Given the description of an element on the screen output the (x, y) to click on. 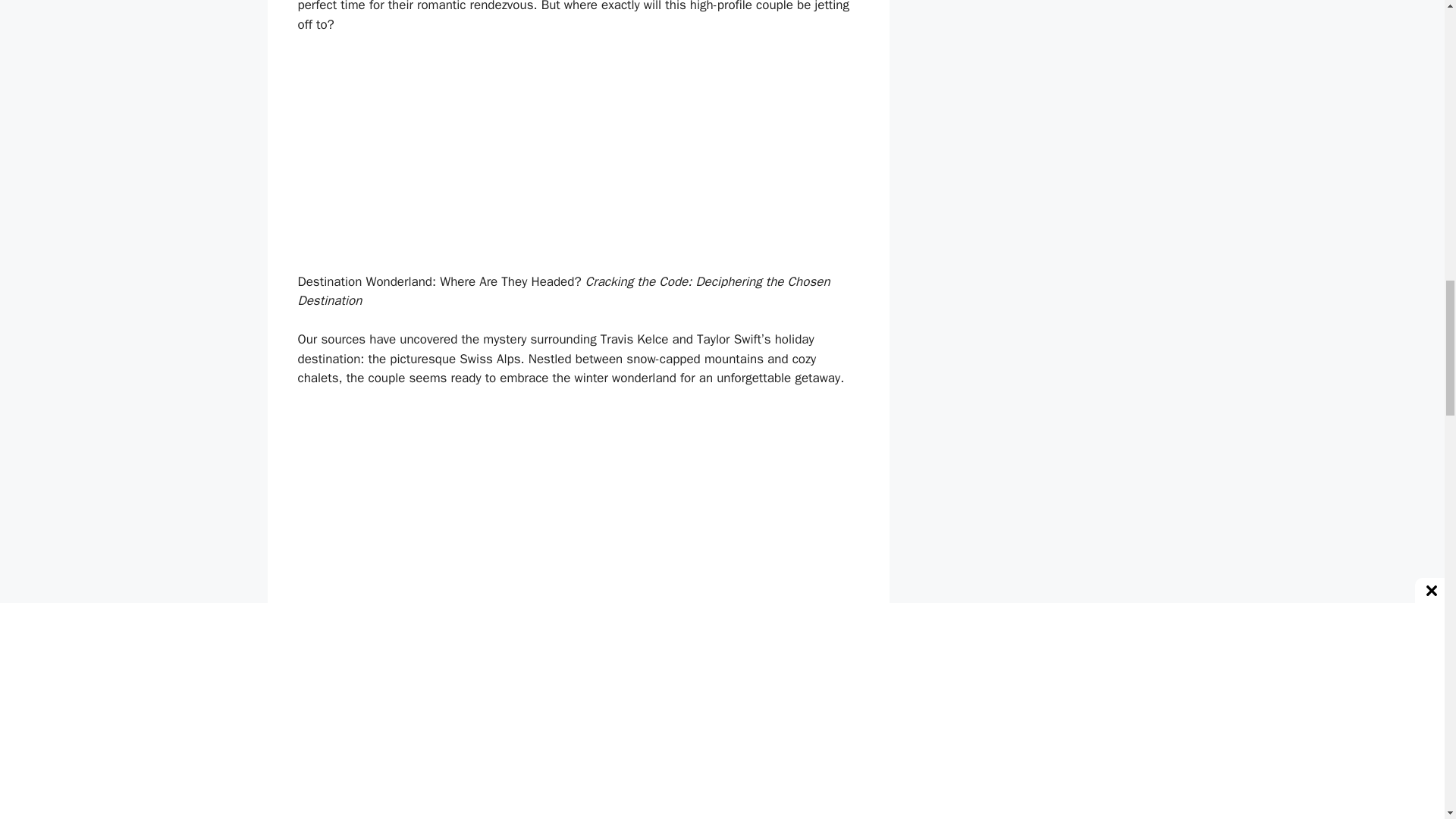
Advertisement (578, 160)
Advertisement (578, 513)
Advertisement (578, 790)
